Given the description of an element on the screen output the (x, y) to click on. 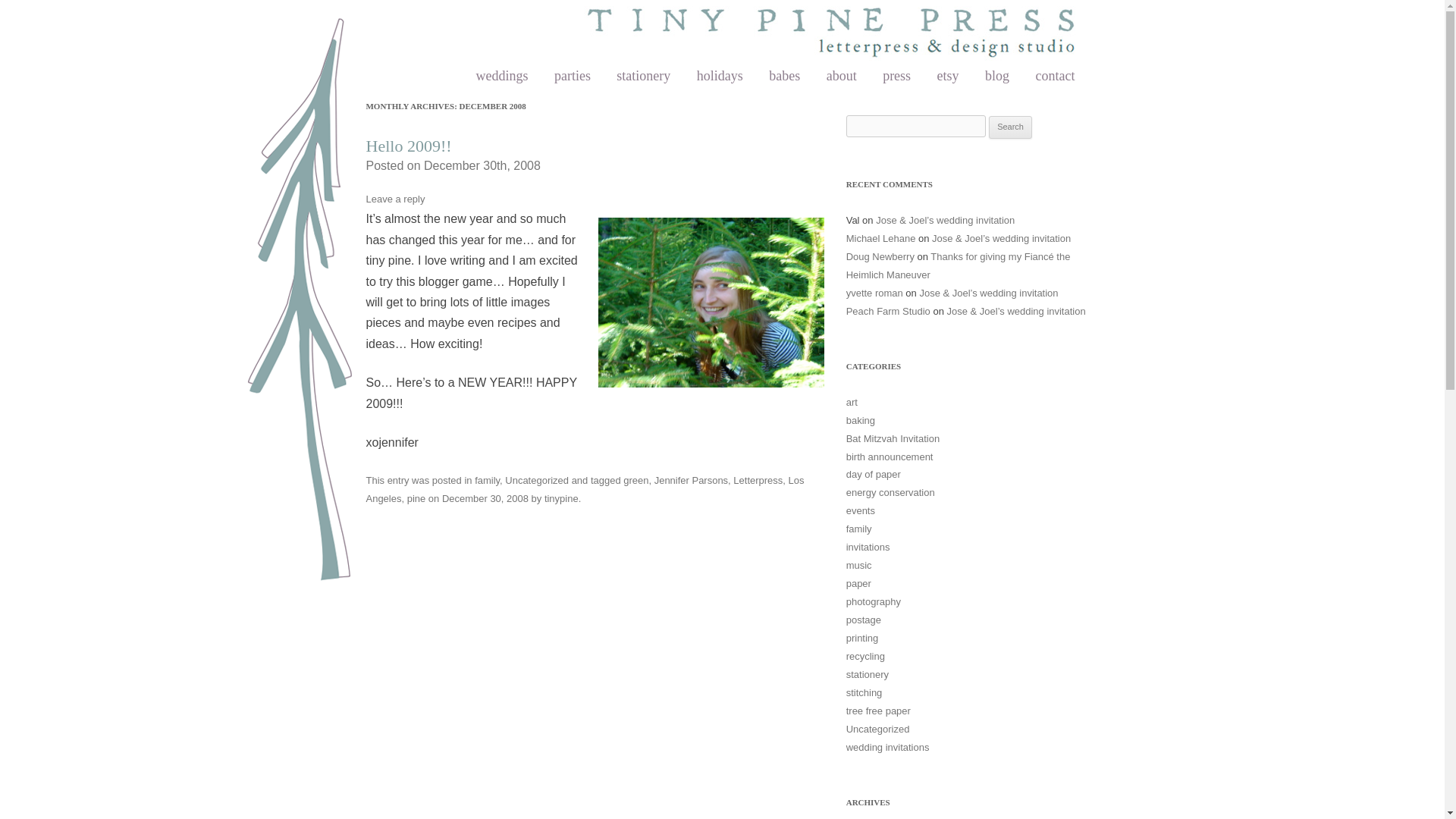
personal and business stationery, branding and invitations (643, 75)
art (851, 401)
Search (1010, 127)
day of paper (873, 473)
about Tiny Pine Press (841, 75)
press (895, 75)
Los Angeles (584, 489)
Jennifer Parsons (690, 480)
about (841, 75)
December 30, 2008 (485, 498)
birth announcement (889, 455)
Peach Farm Studio (887, 310)
family (486, 480)
green (635, 480)
holiday cards (719, 75)
